Given the description of an element on the screen output the (x, y) to click on. 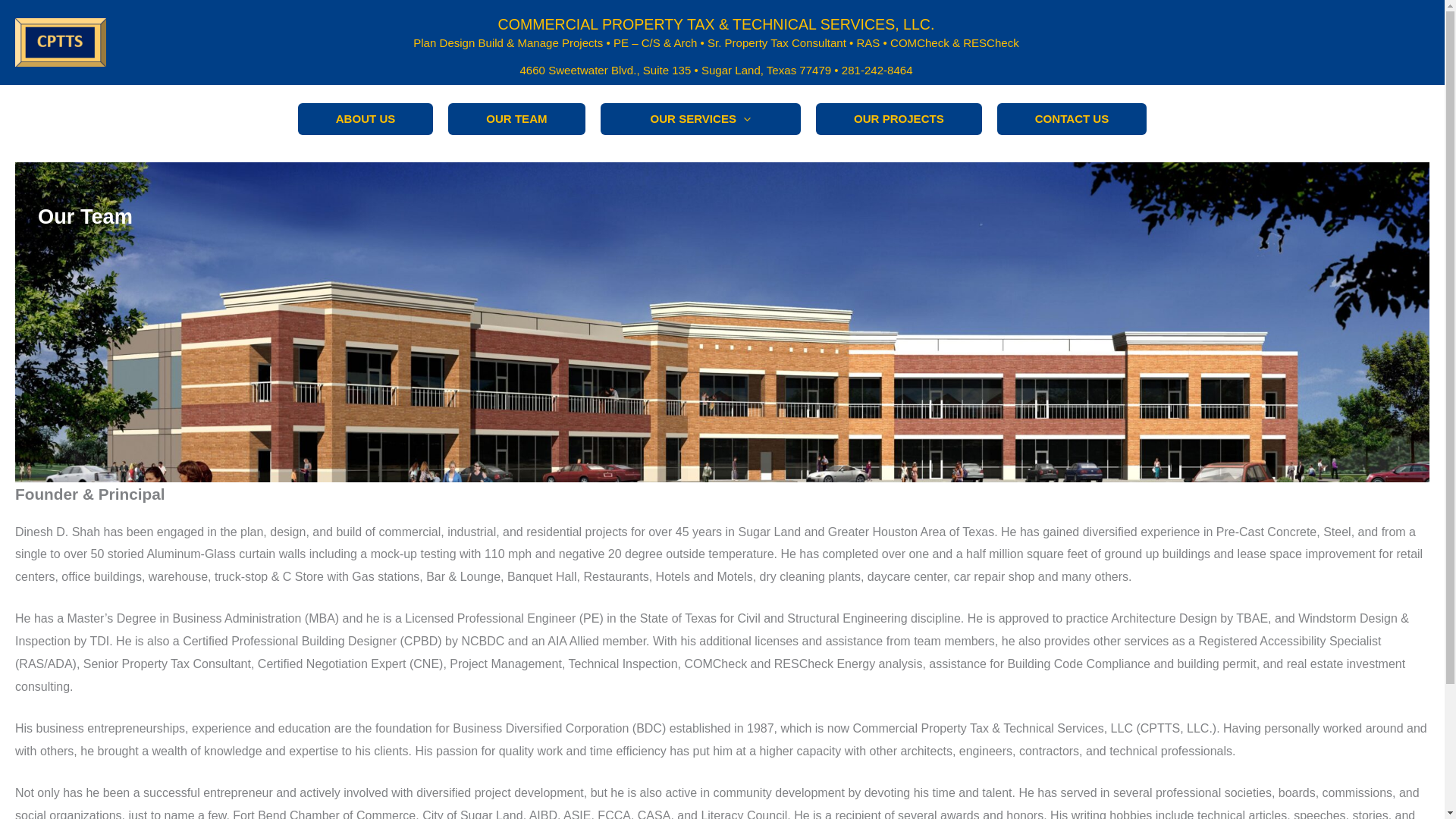
OUR PROJECTS (899, 119)
OUR SERVICES (700, 119)
ABOUT US (365, 119)
CONTACT US (1072, 119)
OUR TEAM (515, 119)
